Given the description of an element on the screen output the (x, y) to click on. 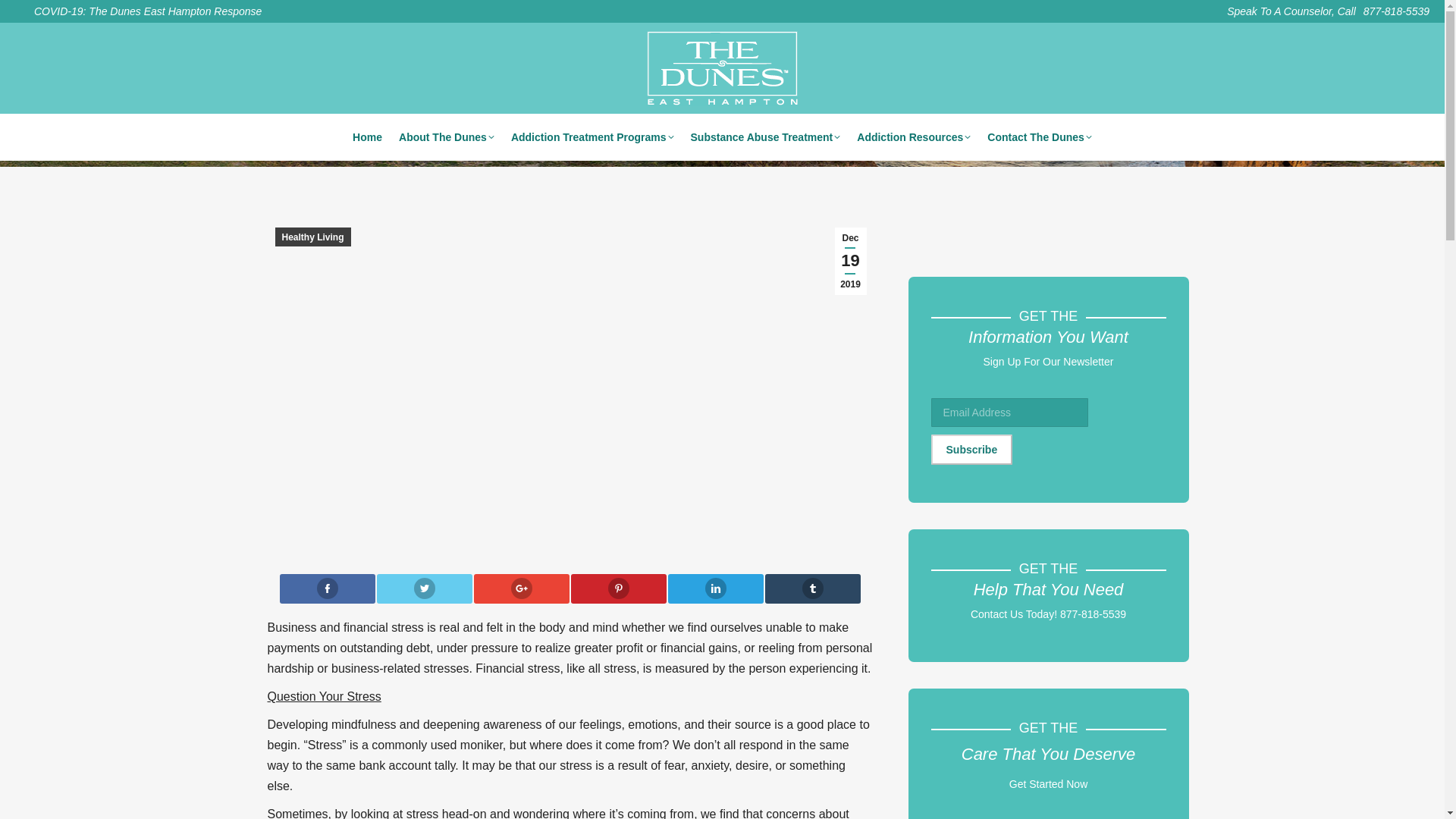
Subscribe (972, 449)
Addiction Treatment Programs (592, 137)
About The Dunes (446, 137)
Homepage (367, 137)
Addiction Treatment Programs (592, 137)
About The Dunes (446, 137)
Home (367, 137)
Substance Abuse Treatment (765, 137)
877-818-5539 (1395, 11)
COVID-19: The Dunes East Hampton Response (138, 11)
